Given the description of an element on the screen output the (x, y) to click on. 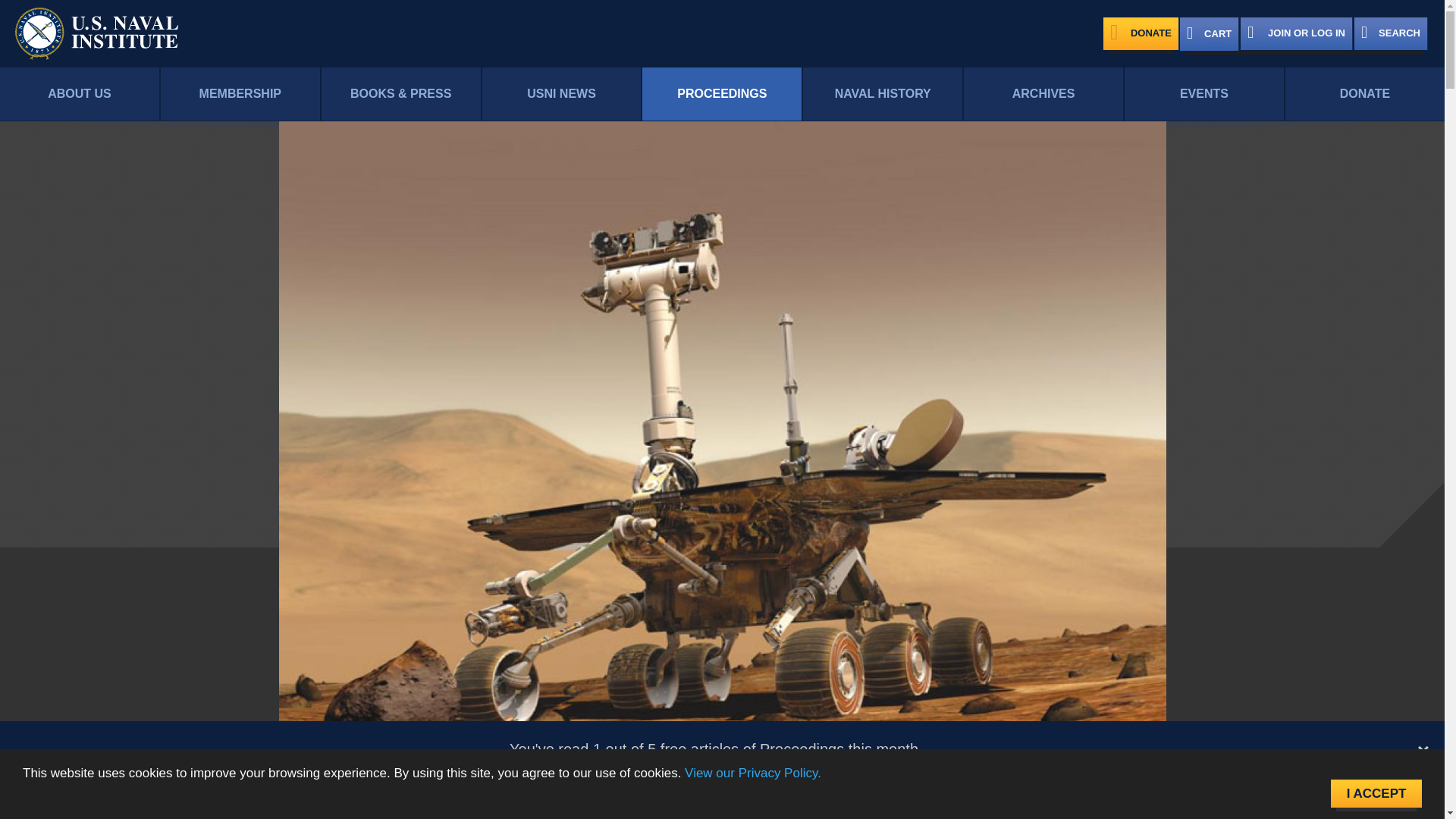
ARCHIVES (1042, 94)
JOIN OR LOG IN (1296, 33)
CART (1209, 33)
EVENTS (1204, 94)
USNI NEWS (561, 94)
NAVAL HISTORY (882, 94)
SEARCH (1391, 33)
ABOUT US (79, 94)
PROCEEDINGS (722, 94)
MEMBERSHIP (240, 94)
DONATE (1364, 94)
DONATE (1141, 33)
